Given the description of an element on the screen output the (x, y) to click on. 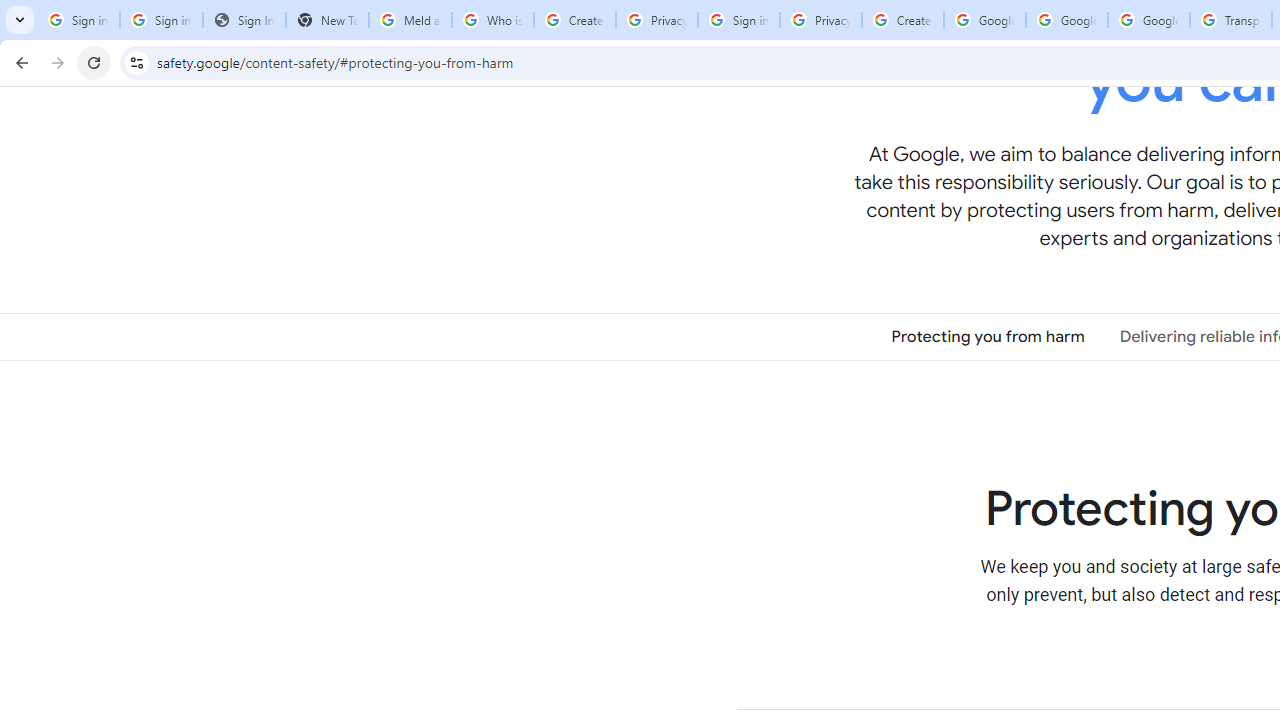
Sign in - Google Accounts (161, 20)
New Tab (326, 20)
Google Account (1149, 20)
